Given the description of an element on the screen output the (x, y) to click on. 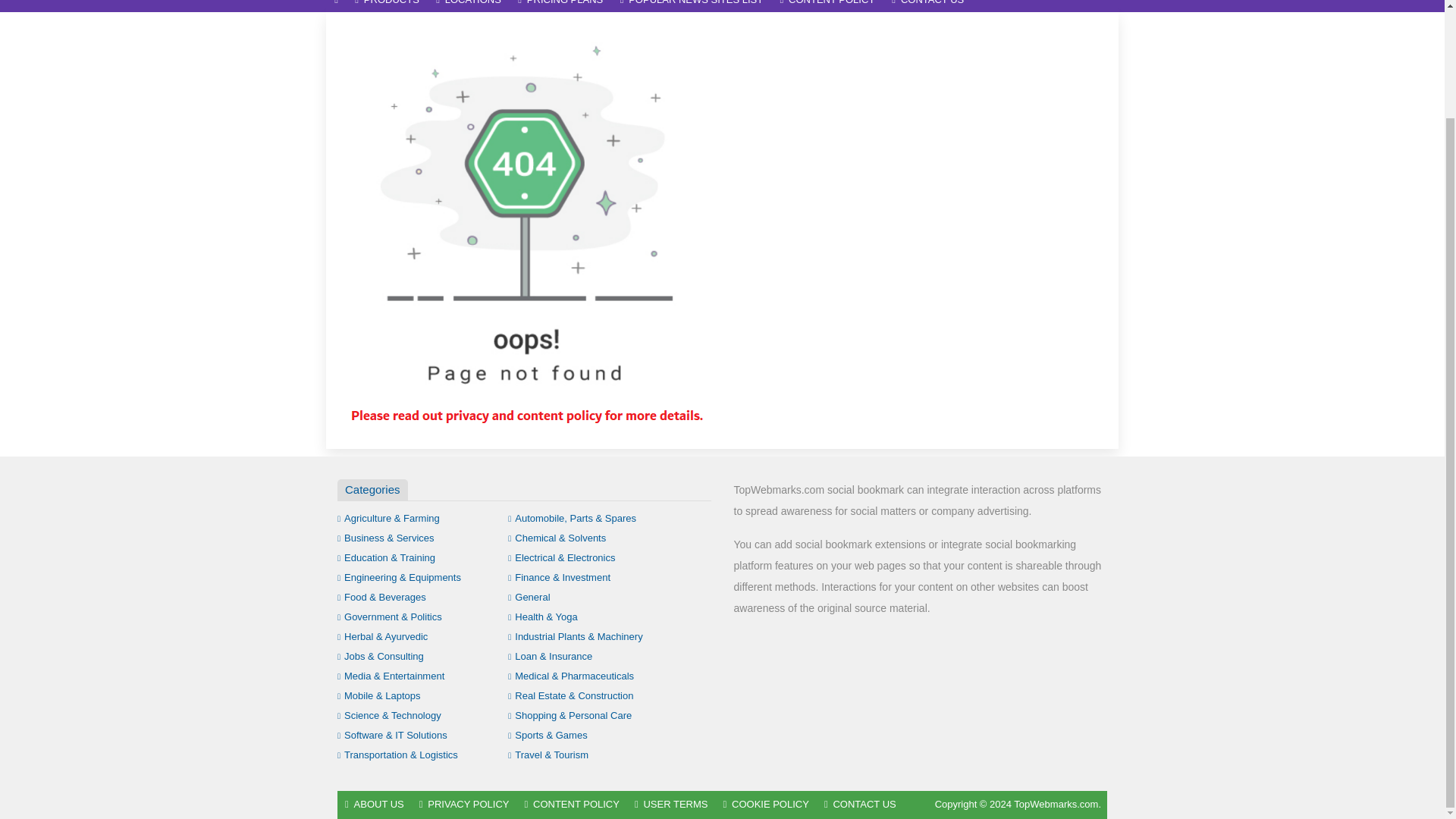
POPULAR NEWS SITES LIST (691, 6)
General (529, 596)
PRODUCTS (387, 6)
CONTENT POLICY (827, 6)
CONTACT US (927, 6)
HOME (336, 6)
PRICING PLANS (560, 6)
LOCATIONS (468, 6)
